Given the description of an element on the screen output the (x, y) to click on. 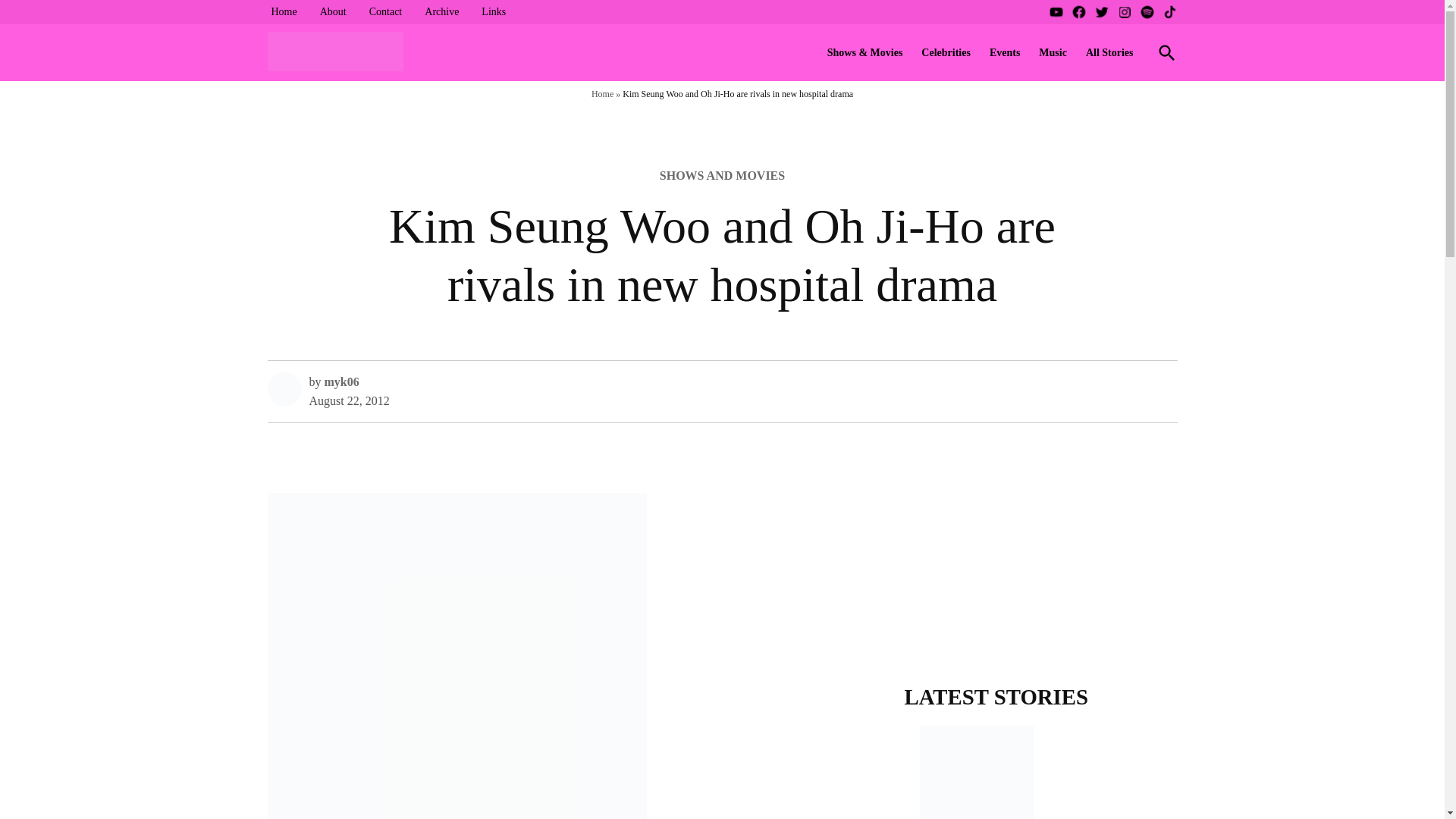
Facebook (1078, 12)
All Stories (1109, 52)
Twitter (1100, 12)
YouTube (1055, 12)
About (332, 11)
Spotify (1146, 12)
Contact (385, 11)
Links (493, 11)
Open Search (1166, 52)
Home (282, 11)
About (332, 11)
Events (1004, 52)
Instagram (1123, 12)
Tiktok (1168, 12)
Archive (441, 11)
